Given the description of an element on the screen output the (x, y) to click on. 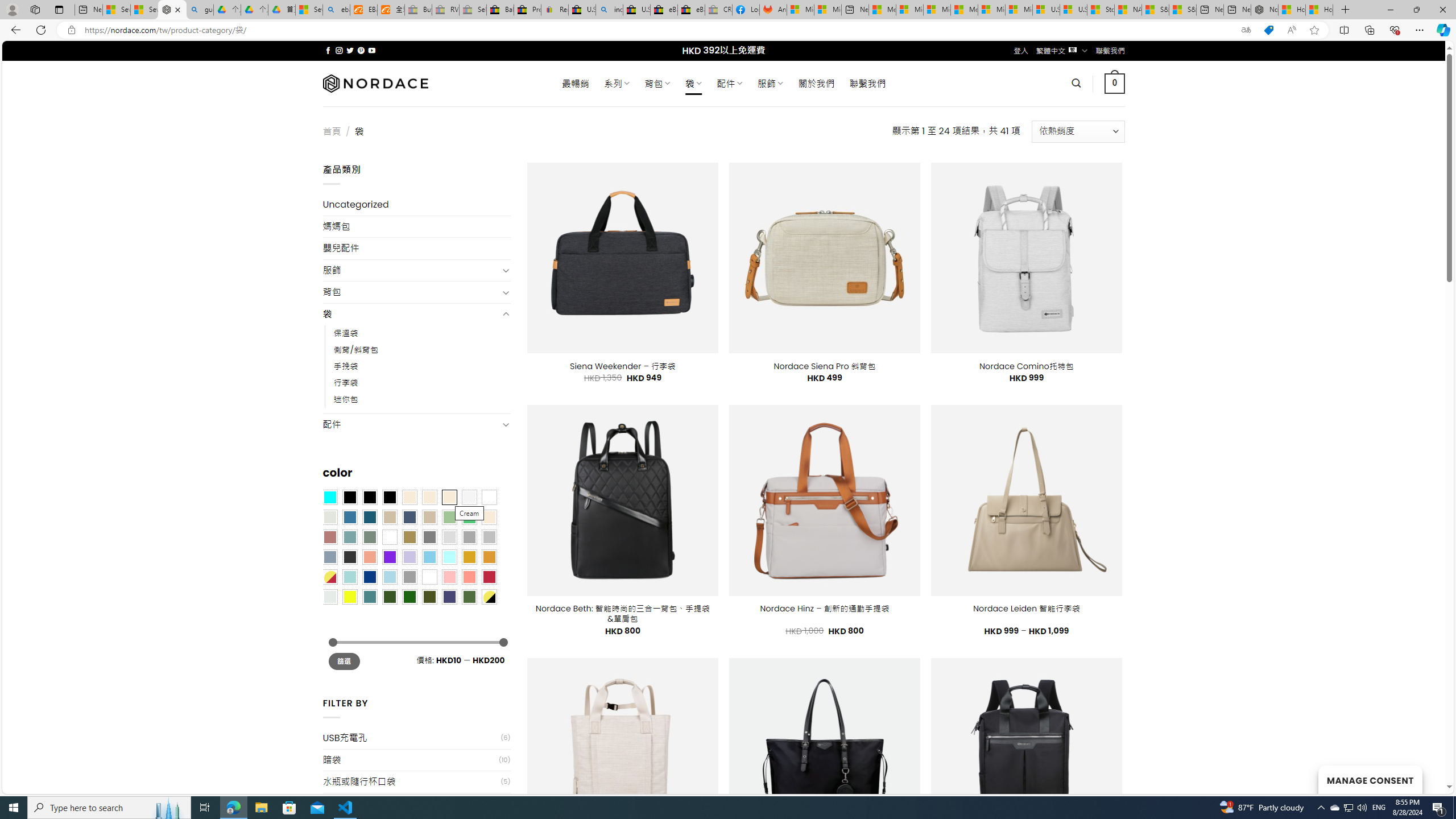
Show translate options (1245, 29)
eBay Inc. Reports Third Quarter 2023 Results (691, 9)
